Given the description of an element on the screen output the (x, y) to click on. 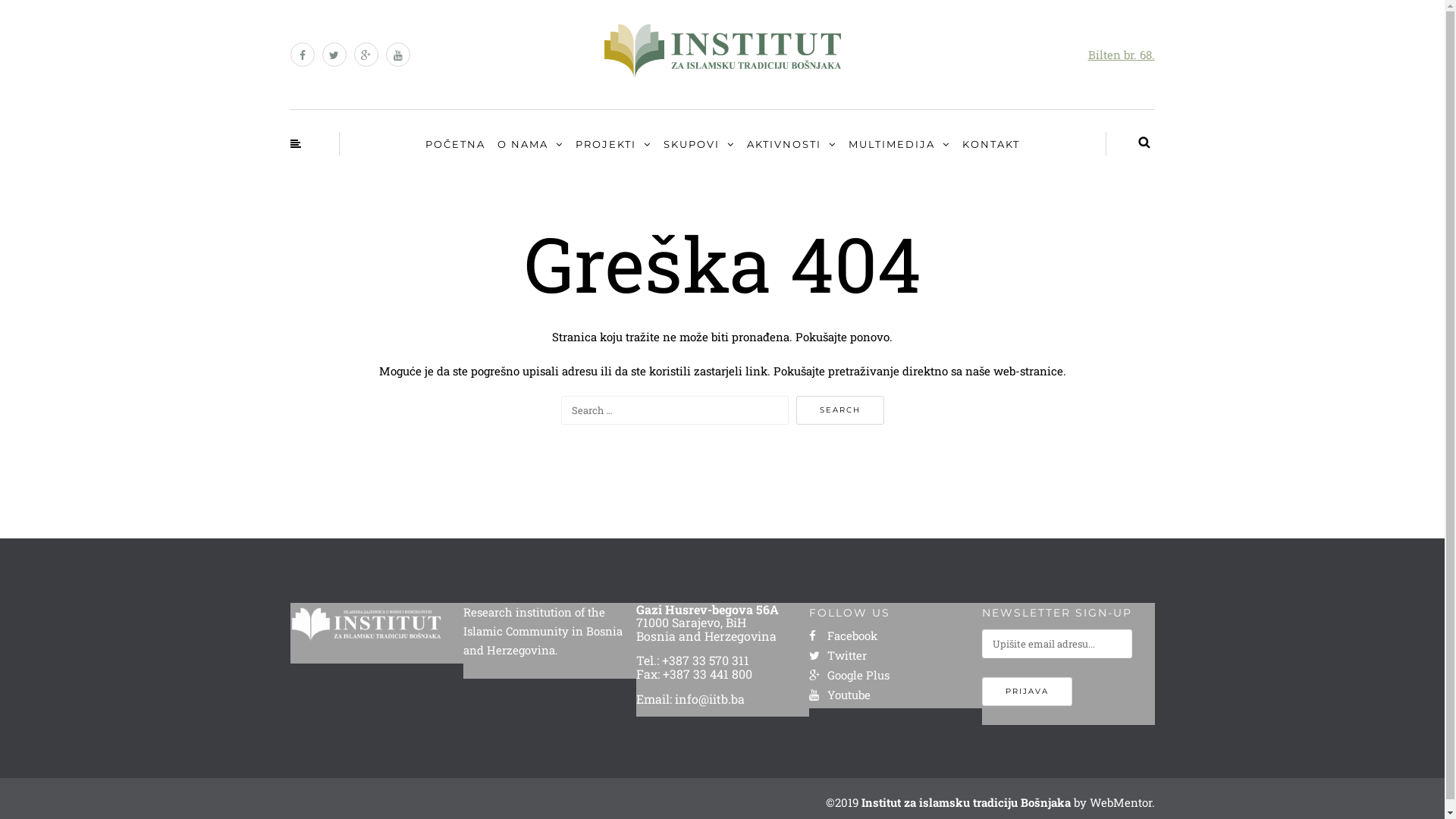
Google Plus Element type: text (848, 674)
Prijava Element type: text (1026, 691)
PROJEKTI Element type: text (613, 144)
Twitter Element type: text (837, 654)
Prijava Element type: text (72, 716)
AKTIVNOSTI Element type: text (791, 144)
Search Element type: text (840, 409)
Facebook Element type: text (842, 635)
info@iitb.ba Element type: text (709, 698)
SKUPOVI Element type: text (698, 144)
Bilten br. 68. Element type: text (1120, 54)
O NAMA Element type: text (529, 144)
MULTIMEDIJA Element type: text (898, 144)
Youtube Element type: text (838, 694)
KONTAKT Element type: text (990, 144)
